Given the description of an element on the screen output the (x, y) to click on. 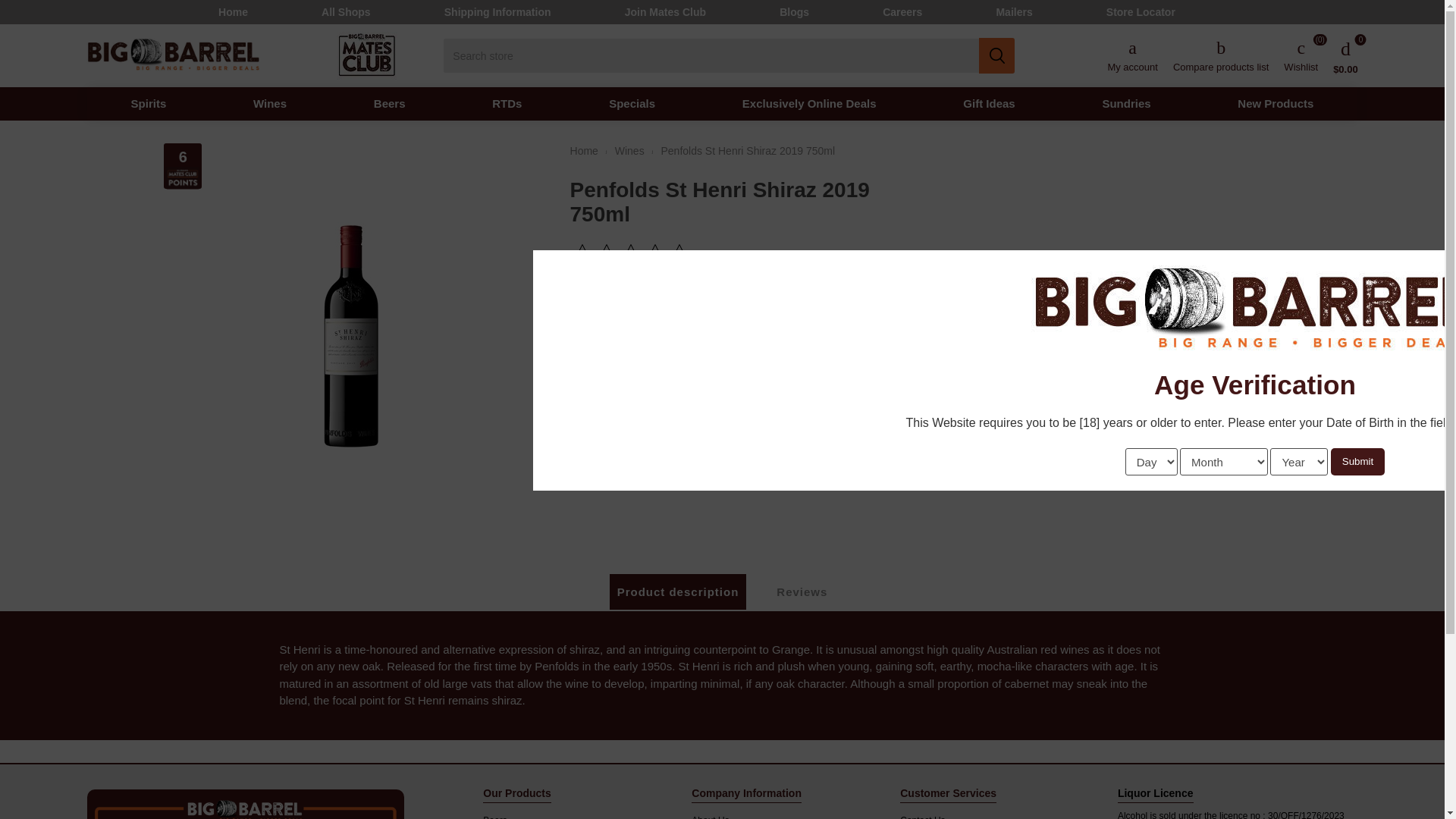
1 (589, 425)
